Given the description of an element on the screen output the (x, y) to click on. 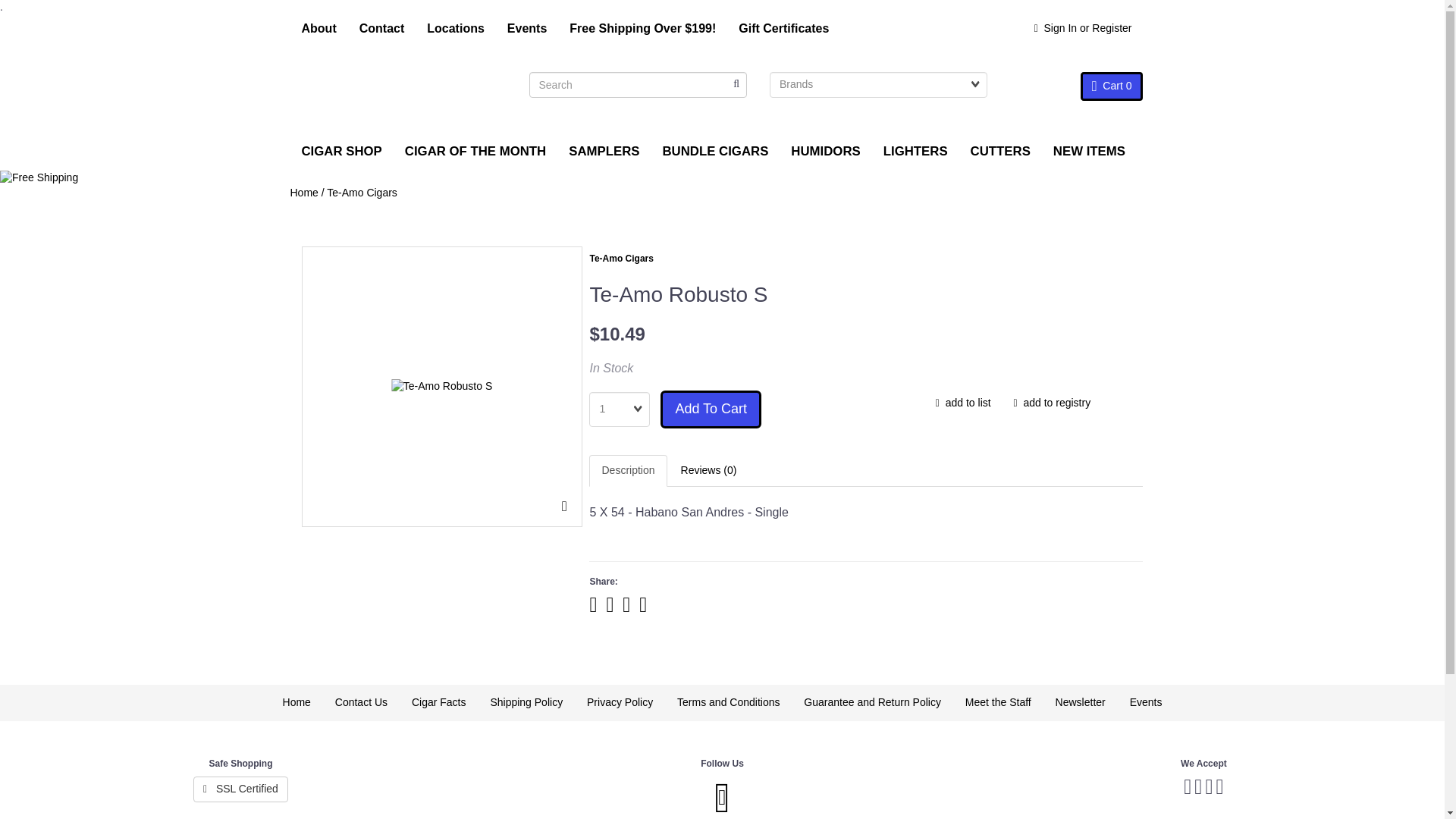
SAMPLERS (603, 151)
CIGAR SHOP (341, 151)
BUNDLE CIGARS (714, 151)
HUMIDORS (824, 151)
Te-Amo Cigars (620, 258)
NEW ITEMS (1089, 151)
Te-Amo Cigars (361, 192)
Events (526, 28)
Te-Amo Robusto S (442, 386)
  Cart 0 (1111, 86)
